Given the description of an element on the screen output the (x, y) to click on. 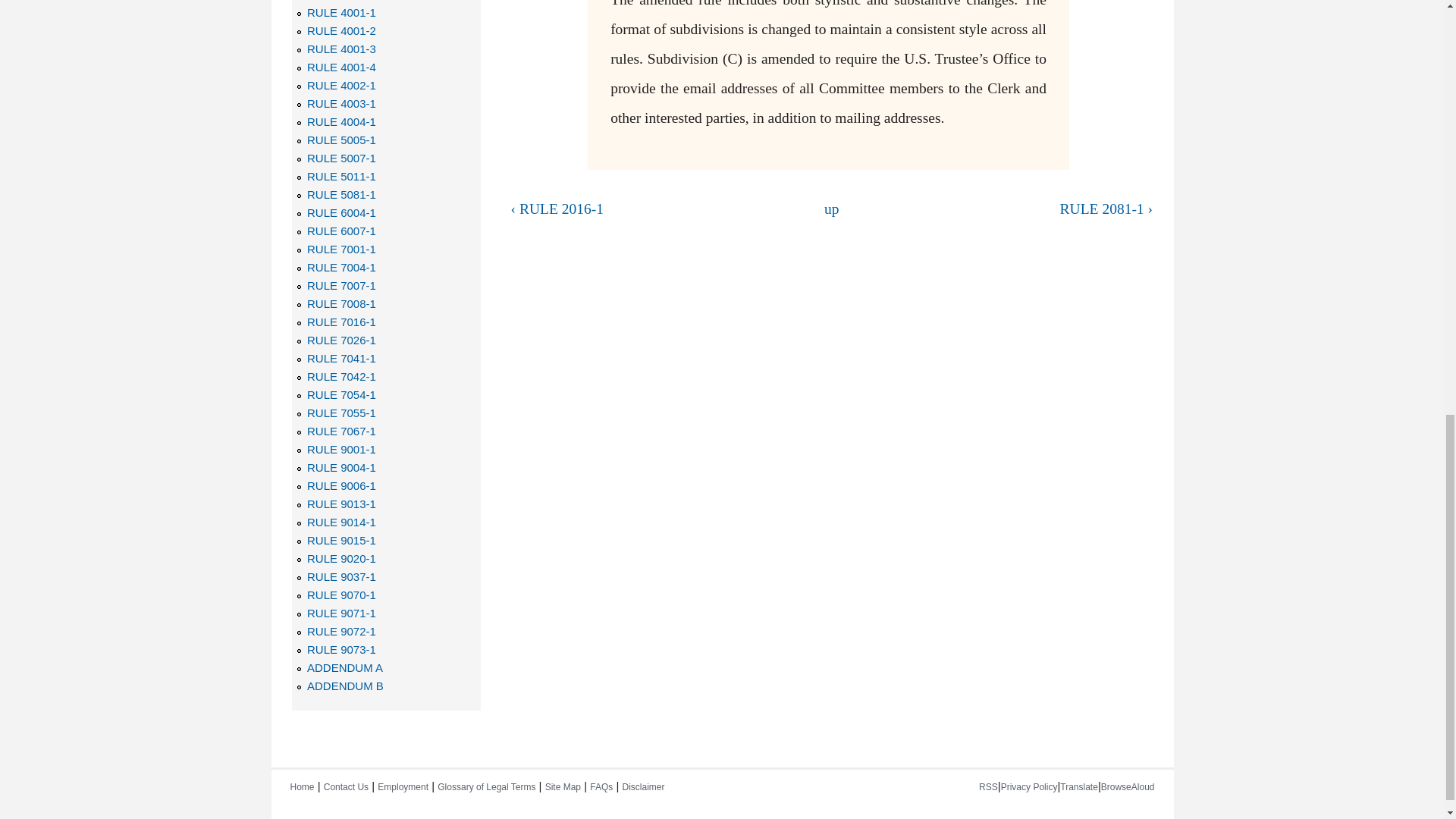
Go to previous page (655, 208)
Go to parent page (831, 208)
Go to next page (1008, 208)
